Given the description of an element on the screen output the (x, y) to click on. 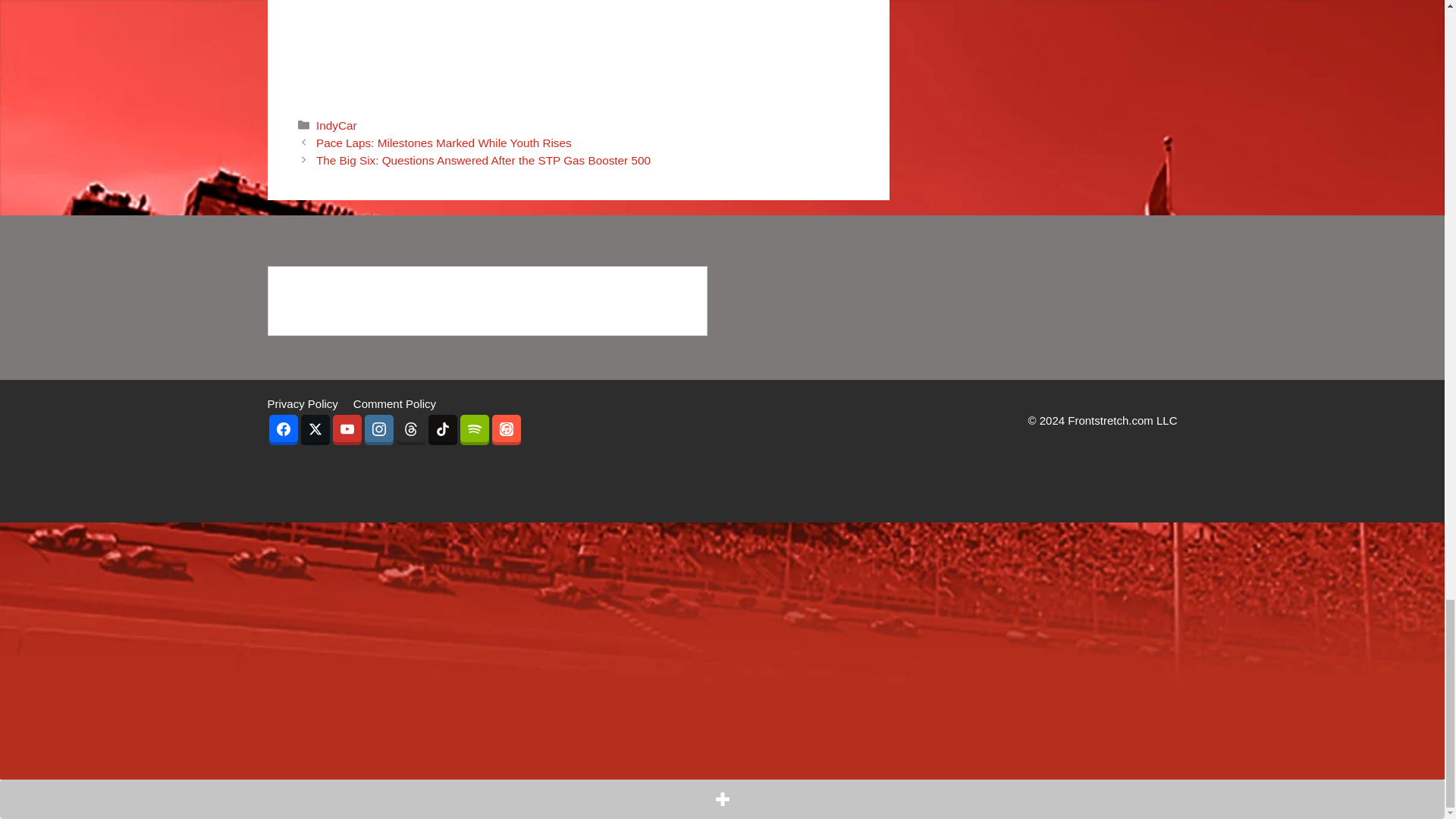
IndyCar (335, 124)
Pace Laps: Milestones Marked While Youth Rises (443, 142)
